Given the description of an element on the screen output the (x, y) to click on. 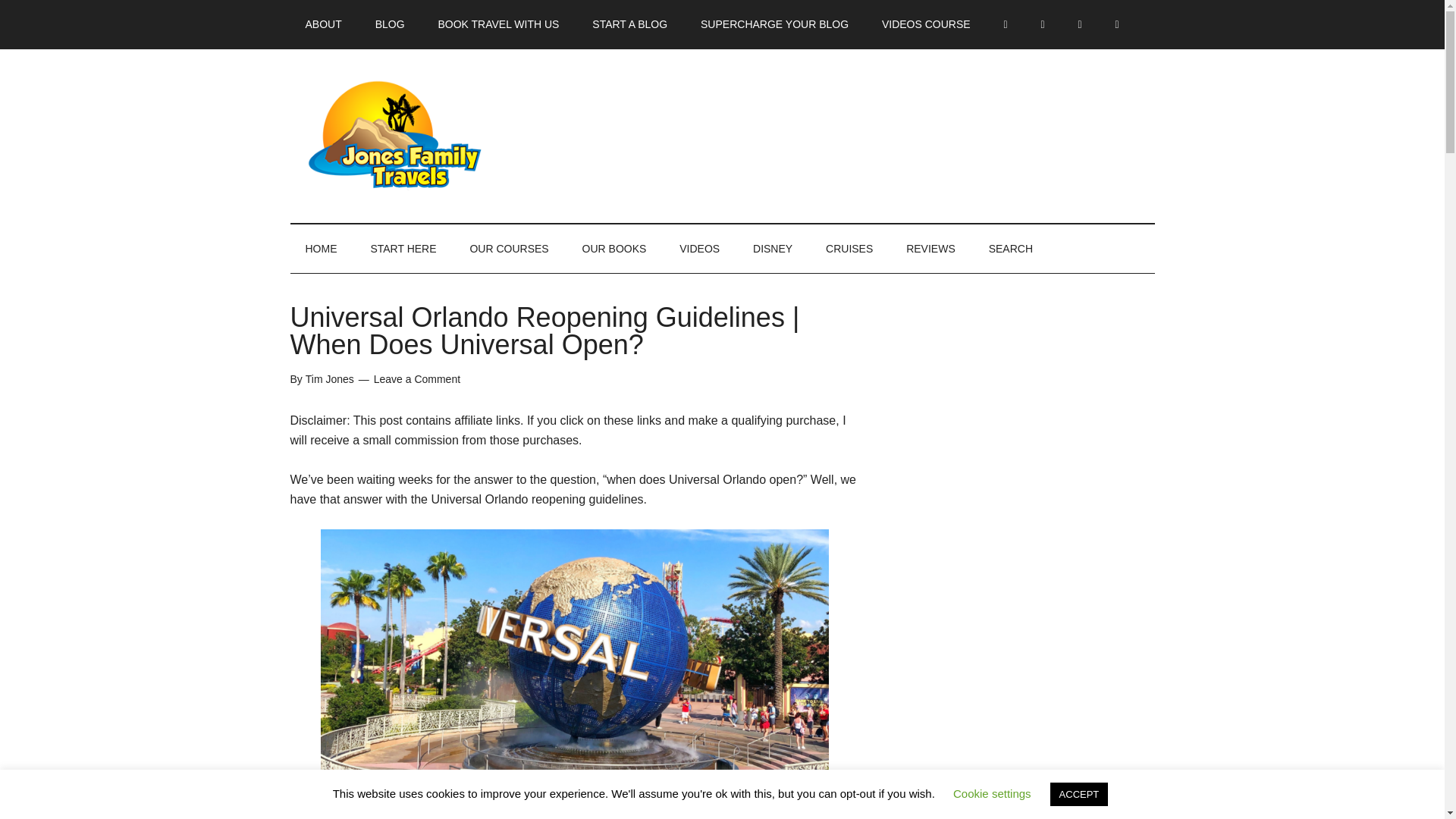
Jones Family Travels (433, 135)
DISNEY (773, 248)
ABOUT (322, 24)
VIDEOS (699, 248)
OUR COURSES (508, 248)
START A BLOG (629, 24)
VIDEOS COURSE (925, 24)
CRUISES (849, 248)
BLOG (389, 24)
START HERE (403, 248)
Advertisement (1007, 685)
SUPERCHARGE YOUR BLOG (774, 24)
Tim Jones (329, 378)
OUR BOOKS (614, 248)
